Given the description of an element on the screen output the (x, y) to click on. 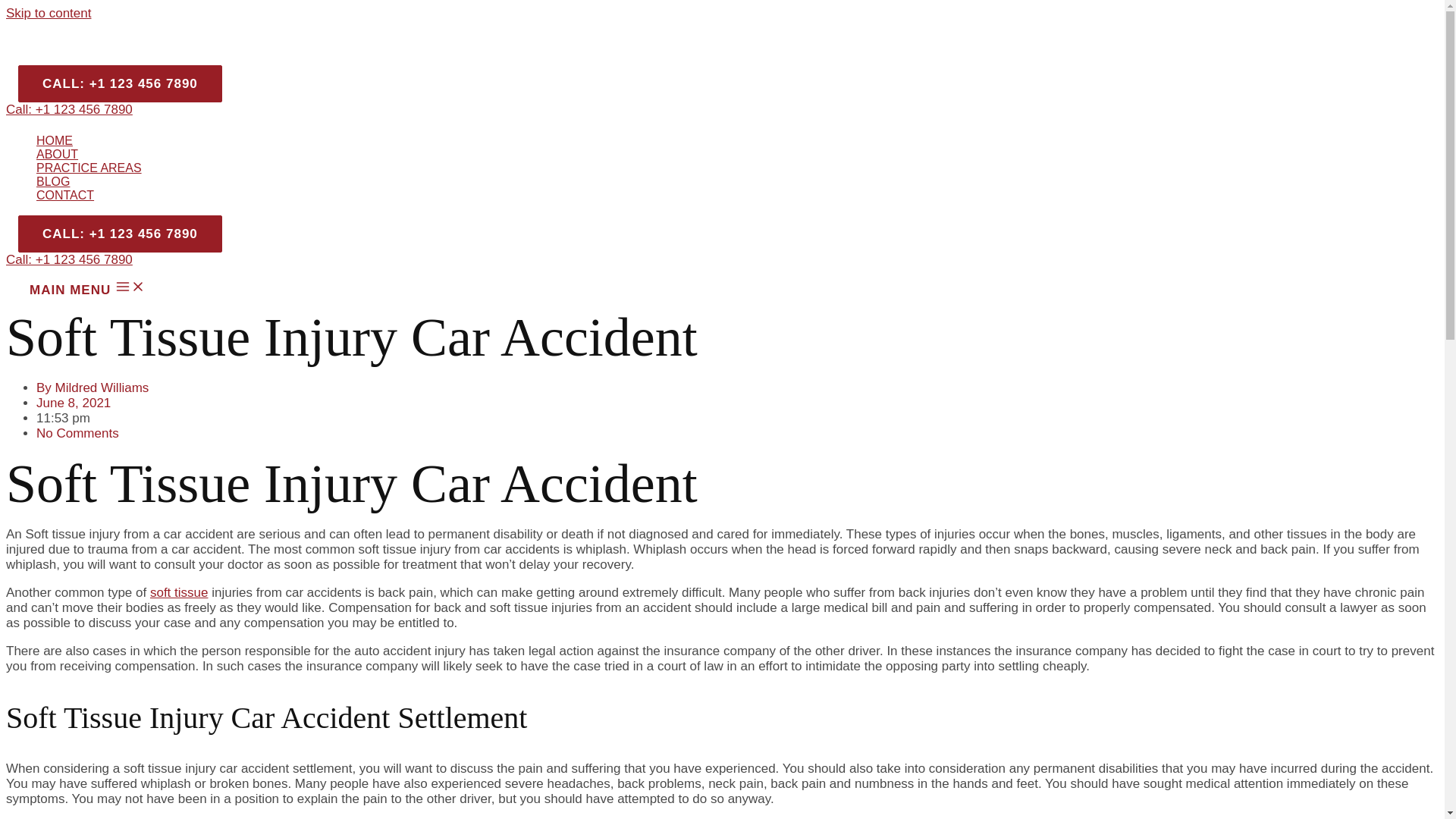
BLOG (88, 182)
No Comments (77, 432)
soft tissue (178, 592)
CONTACT (88, 195)
MAIN MENU (86, 287)
PRACTICE AREAS (88, 168)
June 8, 2021 (73, 402)
Skip to content (47, 12)
HOME (88, 141)
By Mildred Williams (92, 387)
ABOUT (88, 154)
